Given the description of an element on the screen output the (x, y) to click on. 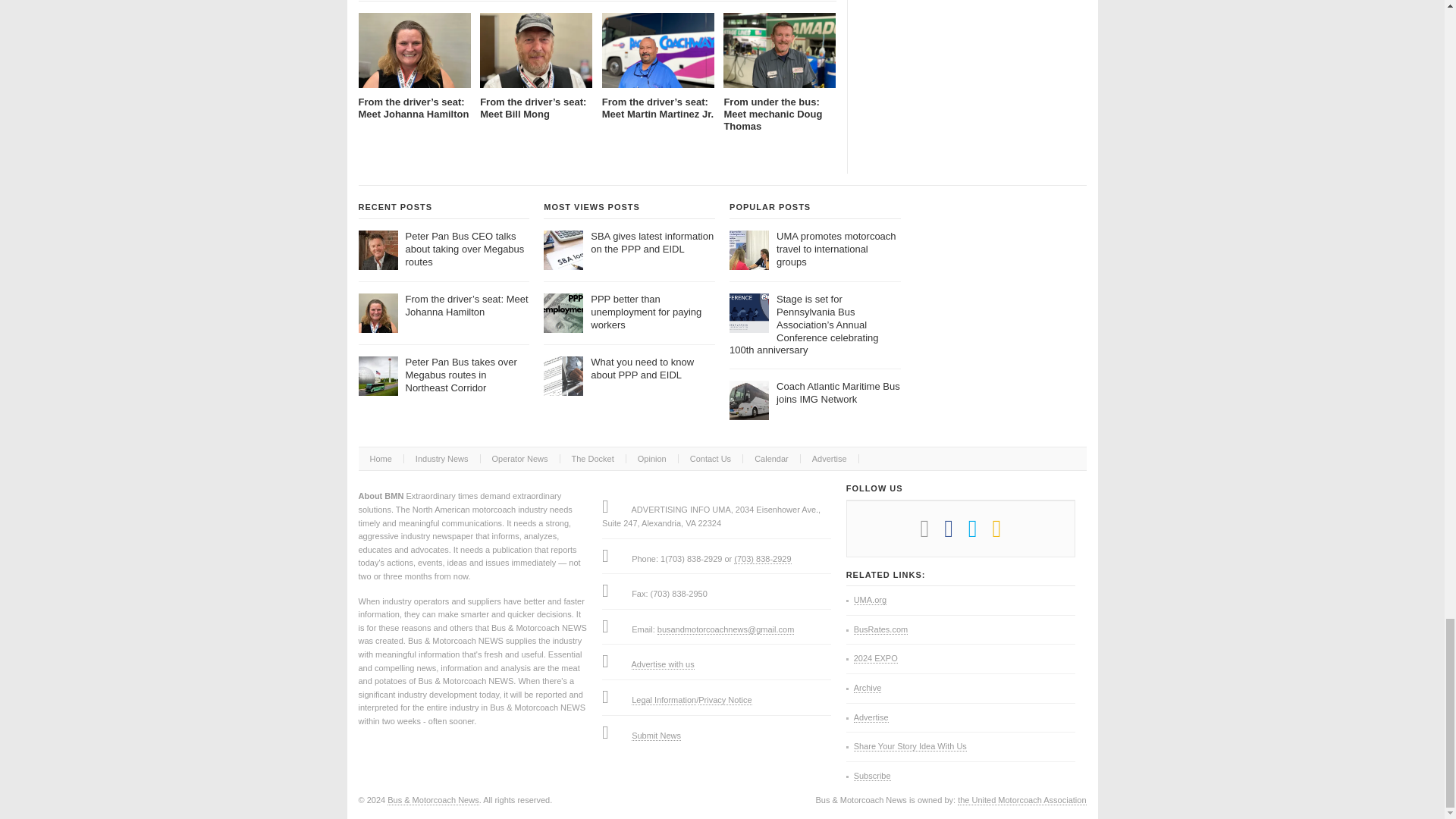
Facebook (955, 533)
Youtube (931, 533)
Twitter (980, 533)
RSS (1004, 533)
What's going on in the bus industry! (433, 800)
